Given the description of an element on the screen output the (x, y) to click on. 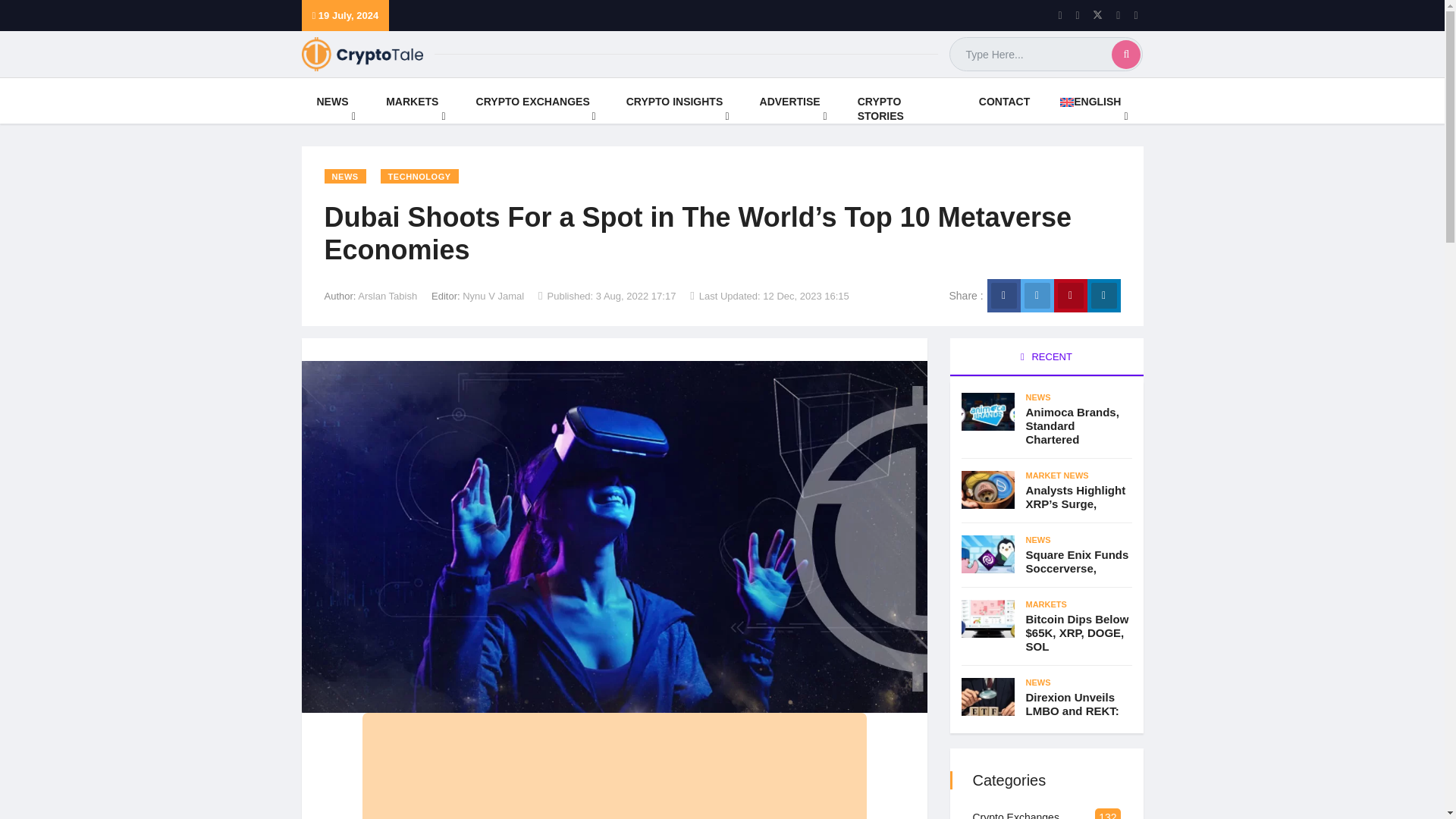
NEWS (336, 100)
CRYPTO INSIGHTS (677, 100)
ADVERTISE (793, 100)
CONTACT (1004, 100)
MARKETS (415, 100)
CRYPTO EXCHANGES (536, 100)
CRYPTO STORIES (903, 100)
ENGLISH (1093, 100)
